Given the description of an element on the screen output the (x, y) to click on. 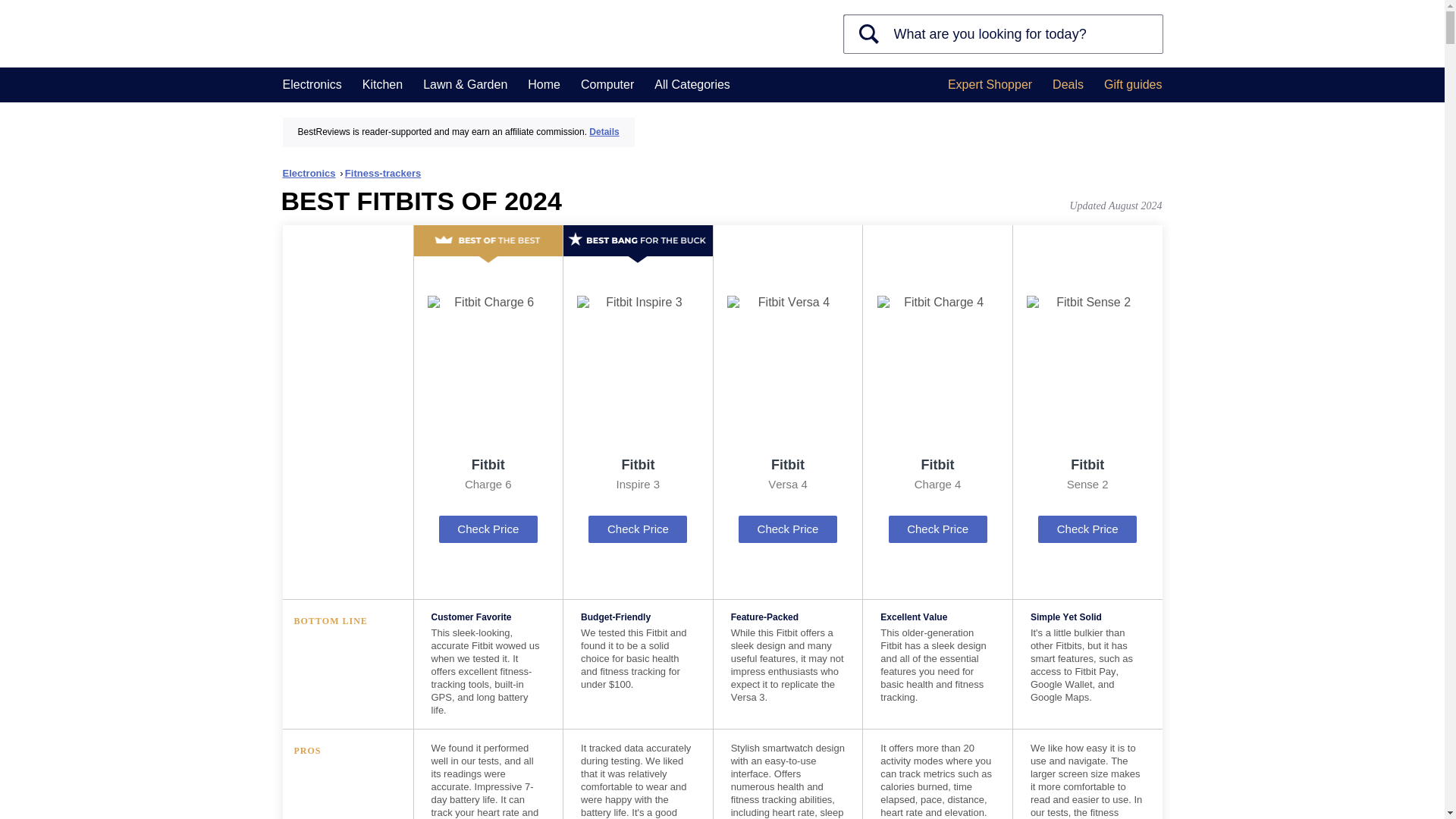
Expert Shopper (989, 84)
Fitness-trackers (382, 173)
Computer (606, 84)
Kitchen (382, 84)
Gift guides (1132, 84)
Electronics (312, 173)
Electronics (311, 84)
All Categories (691, 84)
Details (603, 131)
Deals (1067, 84)
